Given the description of an element on the screen output the (x, y) to click on. 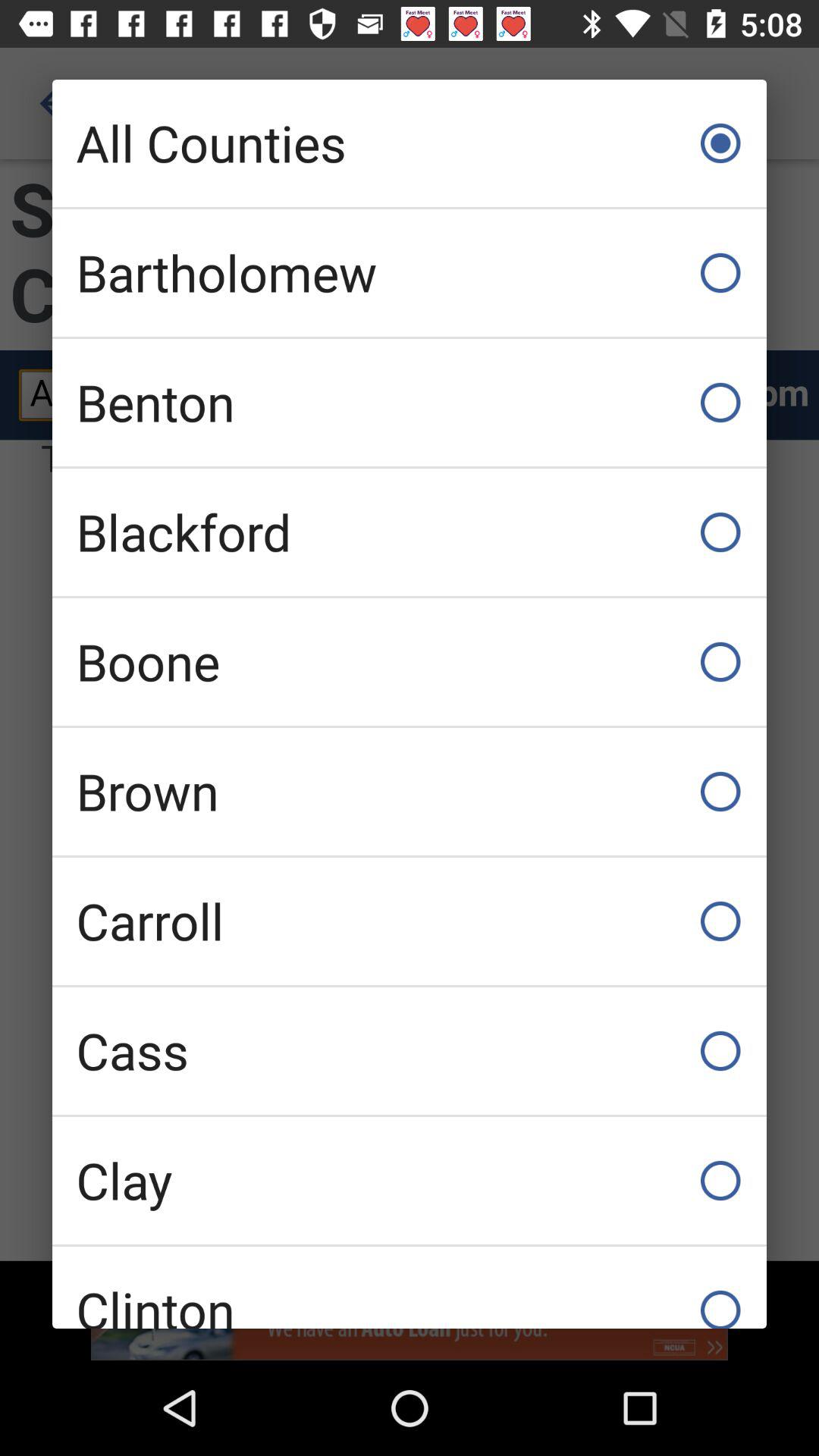
open the item below clay item (409, 1287)
